Given the description of an element on the screen output the (x, y) to click on. 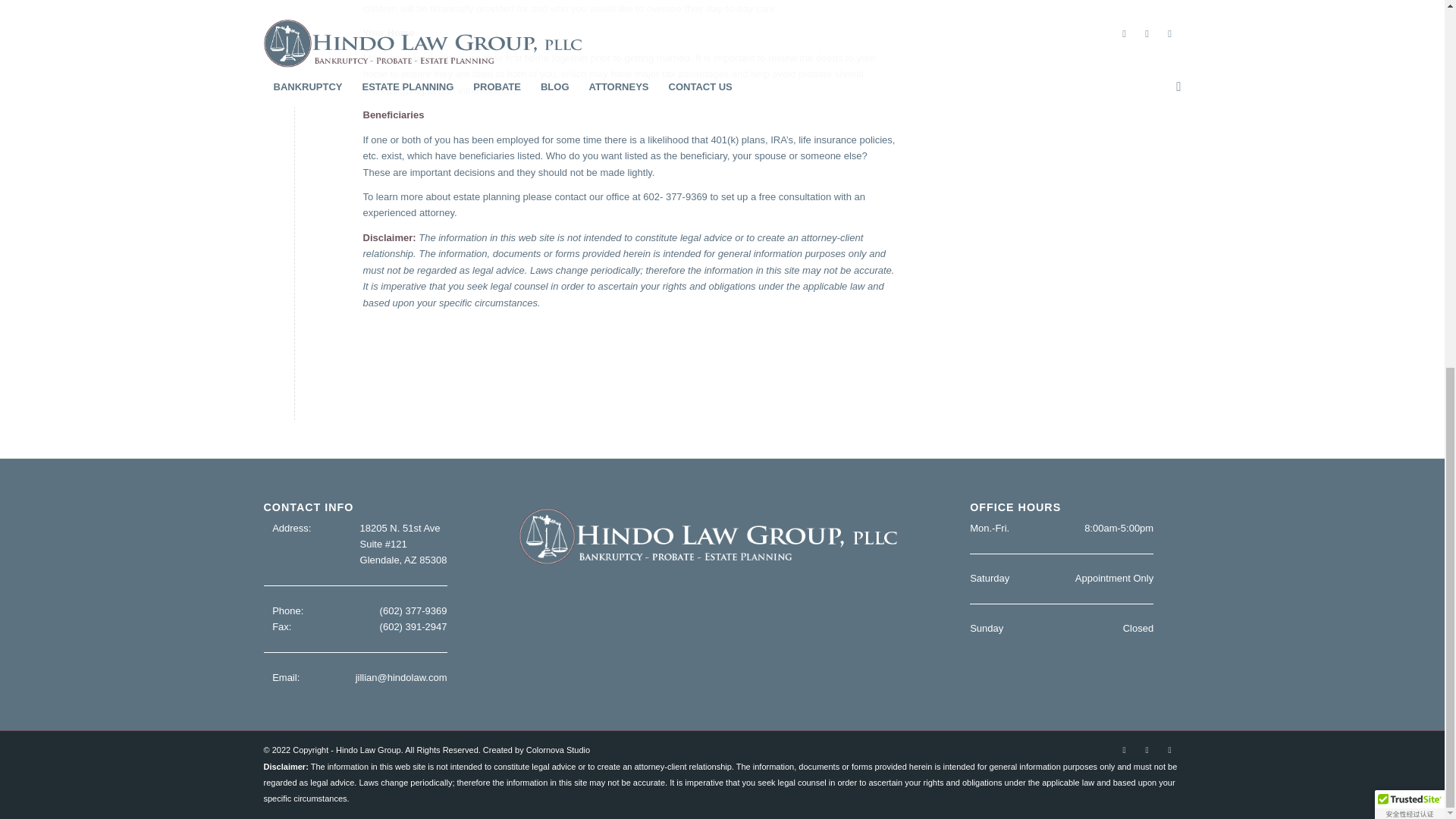
LinkedIn (1146, 749)
Facebook (1124, 749)
Mail (1169, 749)
